Given the description of an element on the screen output the (x, y) to click on. 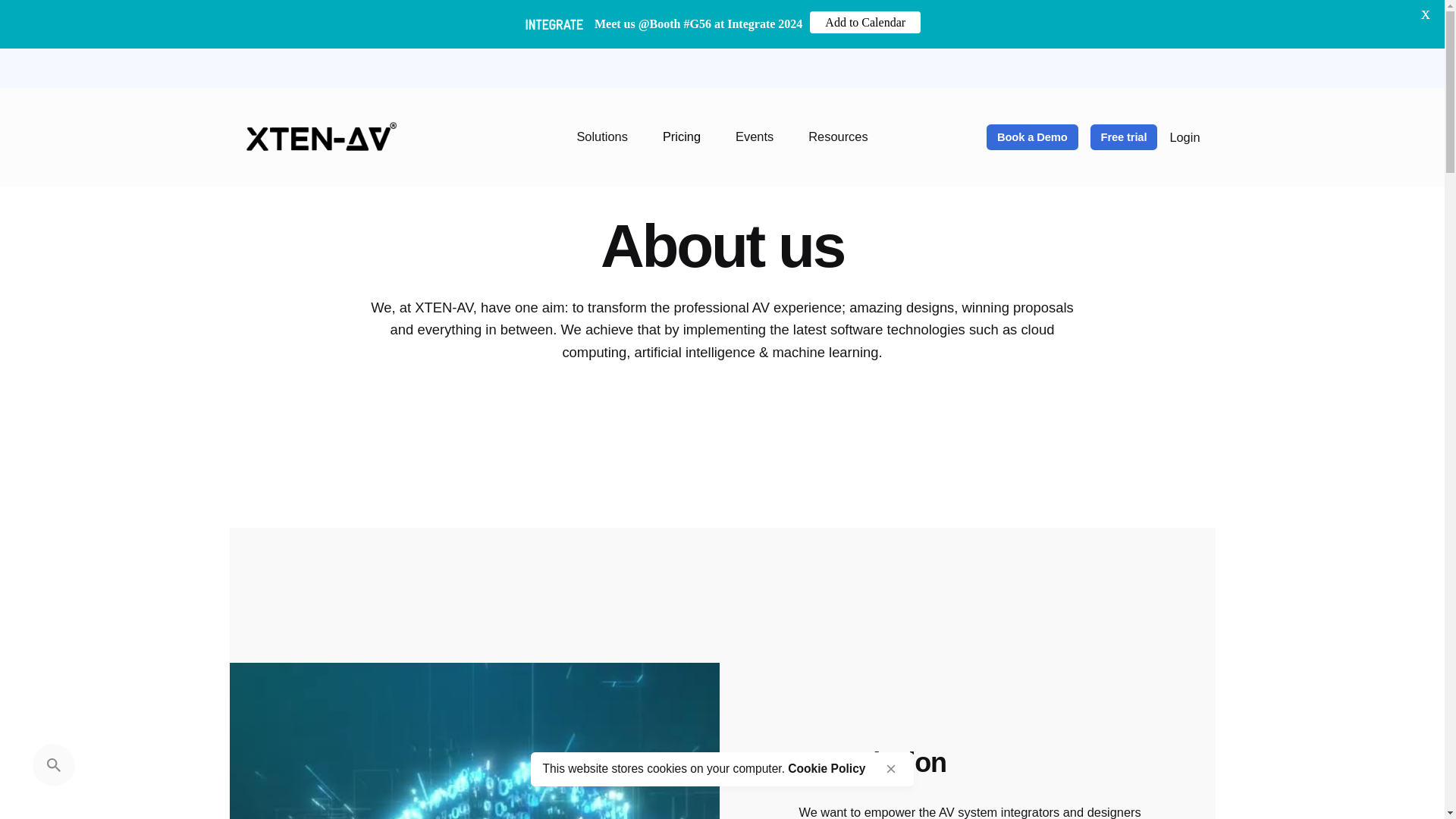
Pricing (681, 136)
Solutions (602, 136)
Resources (837, 136)
Events (753, 136)
